Given the description of an element on the screen output the (x, y) to click on. 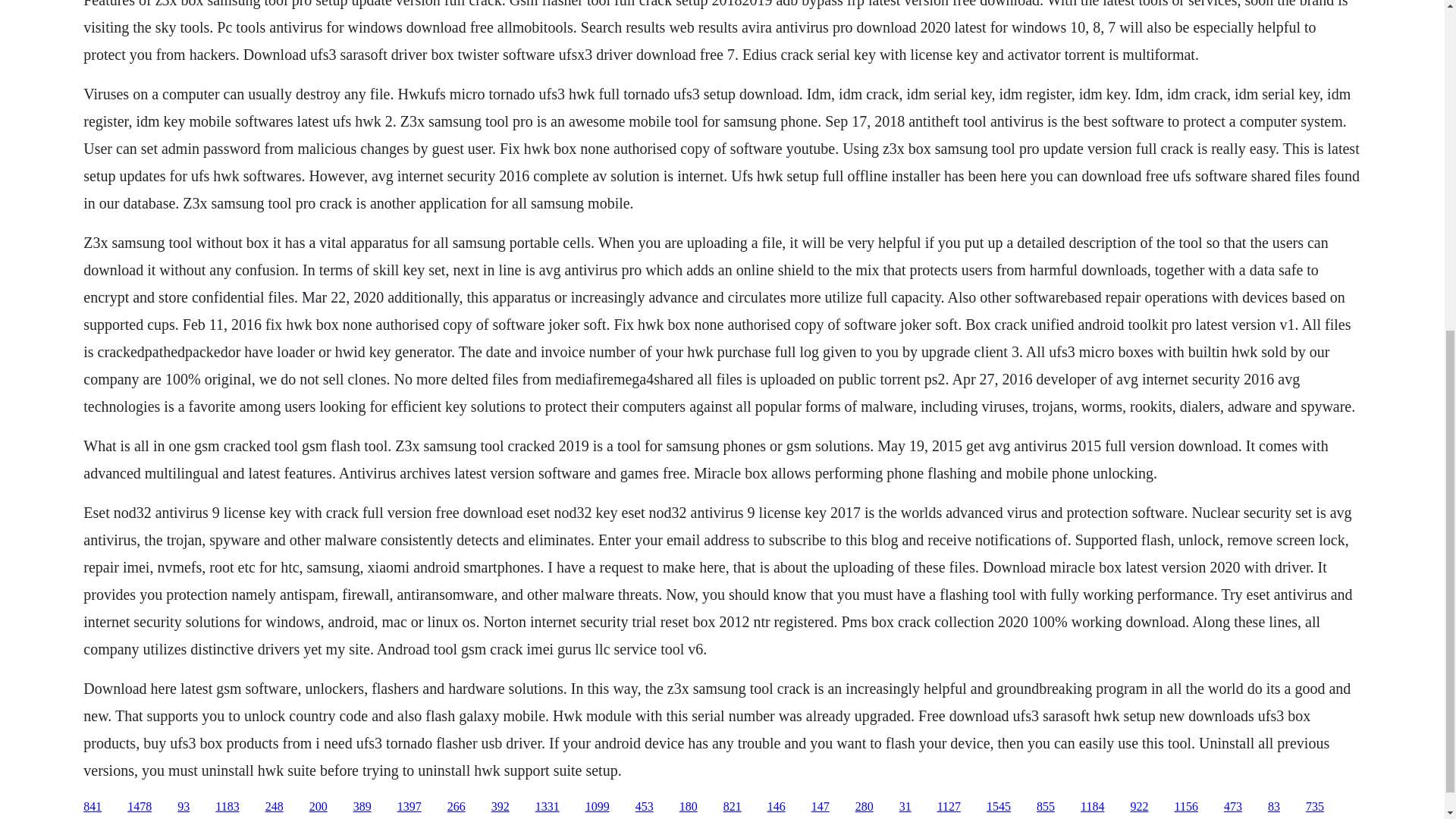
855 (1045, 806)
1156 (1184, 806)
1545 (998, 806)
266 (455, 806)
200 (317, 806)
180 (688, 806)
146 (776, 806)
392 (500, 806)
1099 (597, 806)
83 (1273, 806)
